Given the description of an element on the screen output the (x, y) to click on. 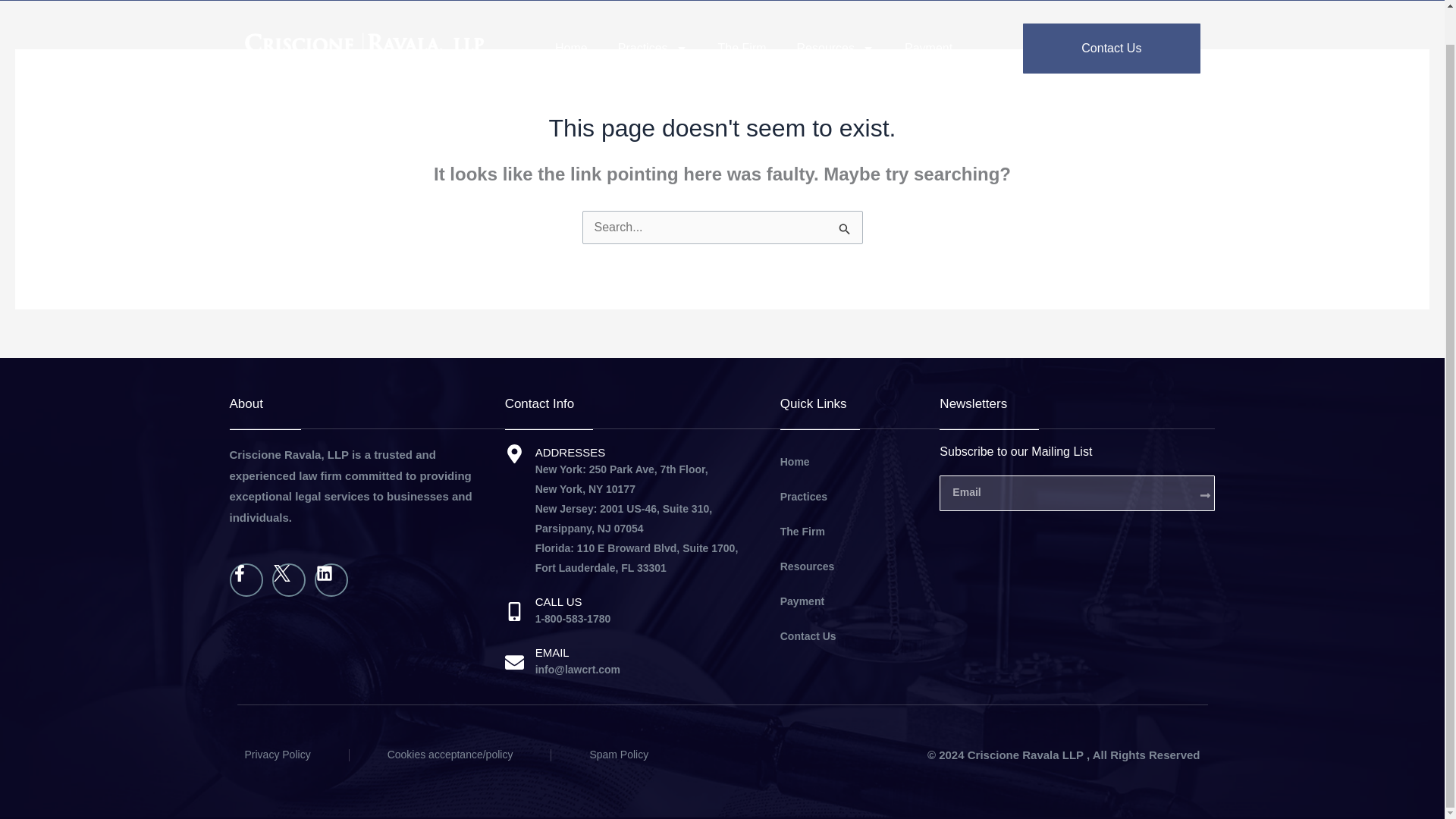
Payment (928, 48)
Contact Us (1111, 48)
Resources (835, 48)
Practices (652, 48)
Home (571, 48)
The Firm (742, 48)
